Given the description of an element on the screen output the (x, y) to click on. 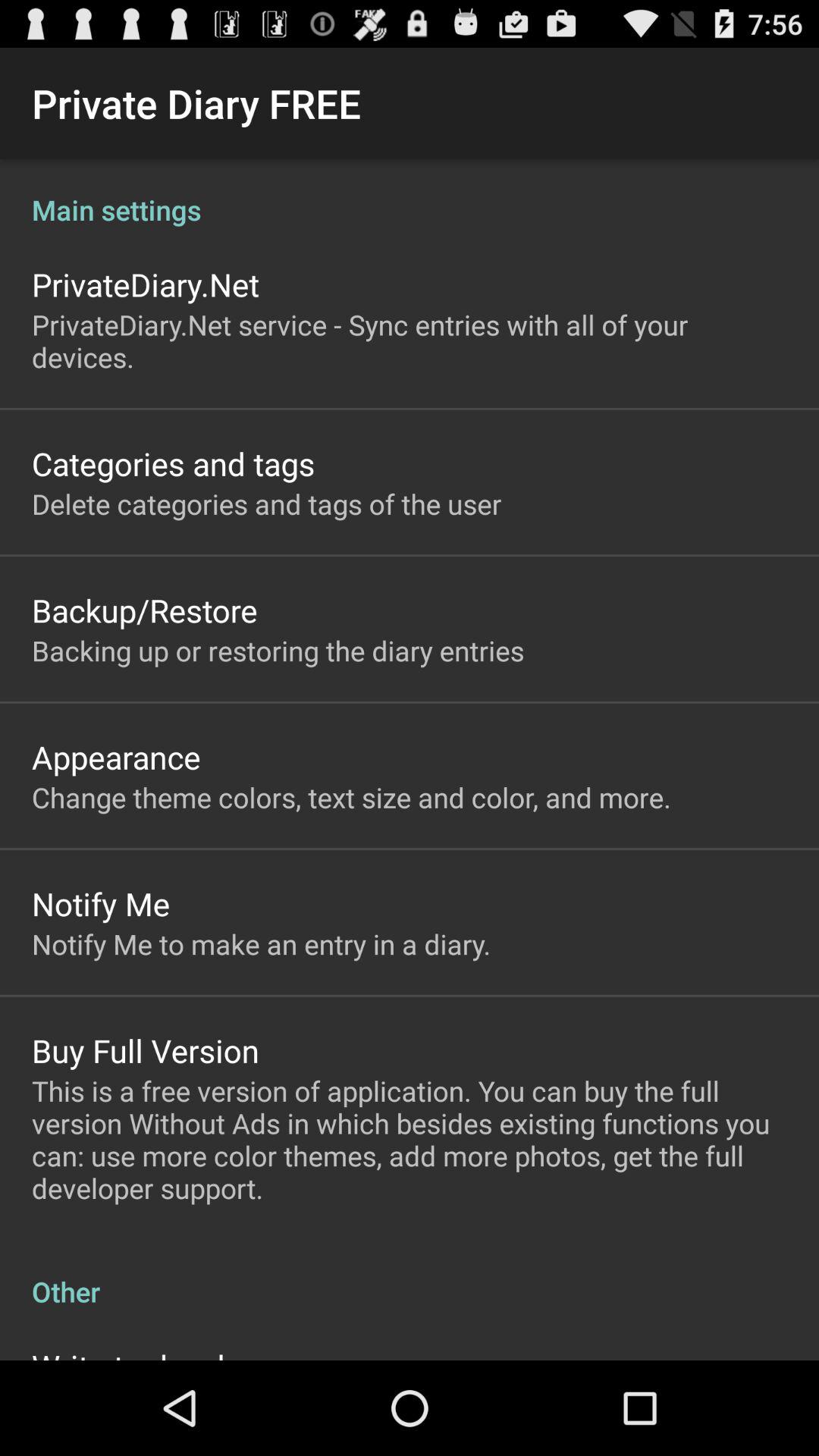
click the backup/restore (144, 609)
